Given the description of an element on the screen output the (x, y) to click on. 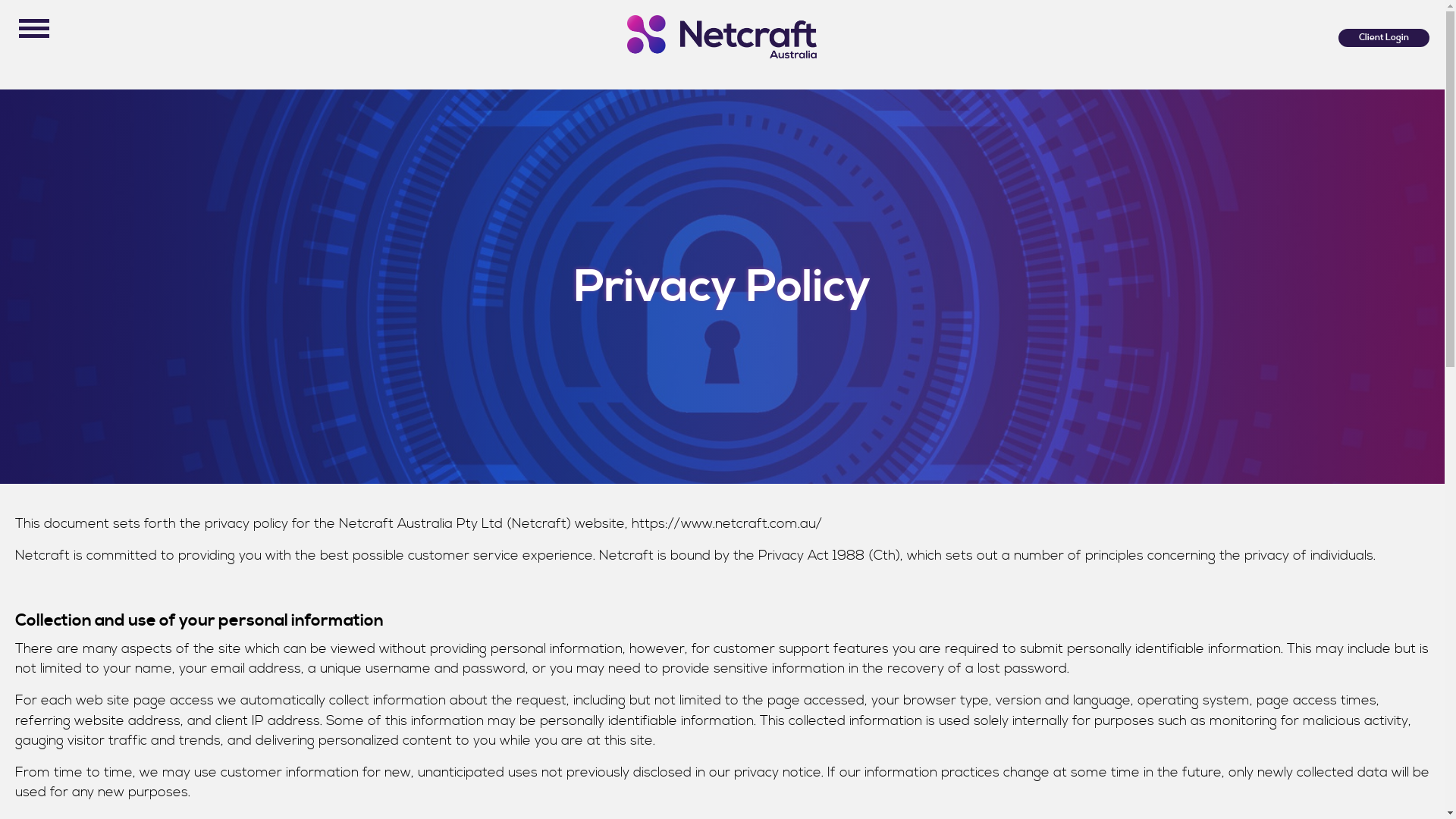
Client Login Element type: text (1383, 37)
new-netcraft-logo-medium Element type: hover (721, 36)
